Given the description of an element on the screen output the (x, y) to click on. 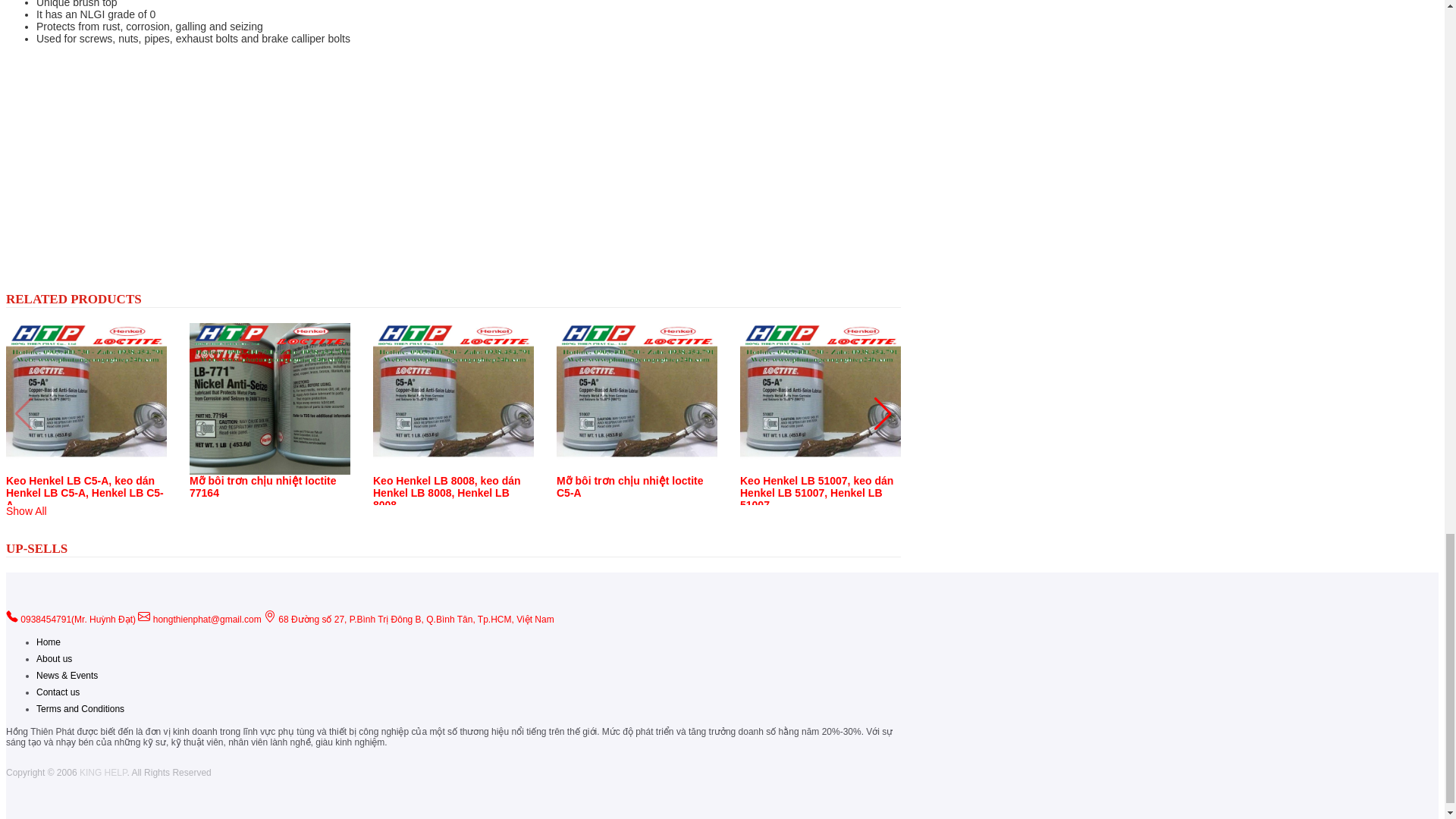
LOCTITE C5-A is an exclusive anti-seize lubricant 0938454791 (195, 161)
RELATED PRODUCTS (73, 299)
